Given the description of an element on the screen output the (x, y) to click on. 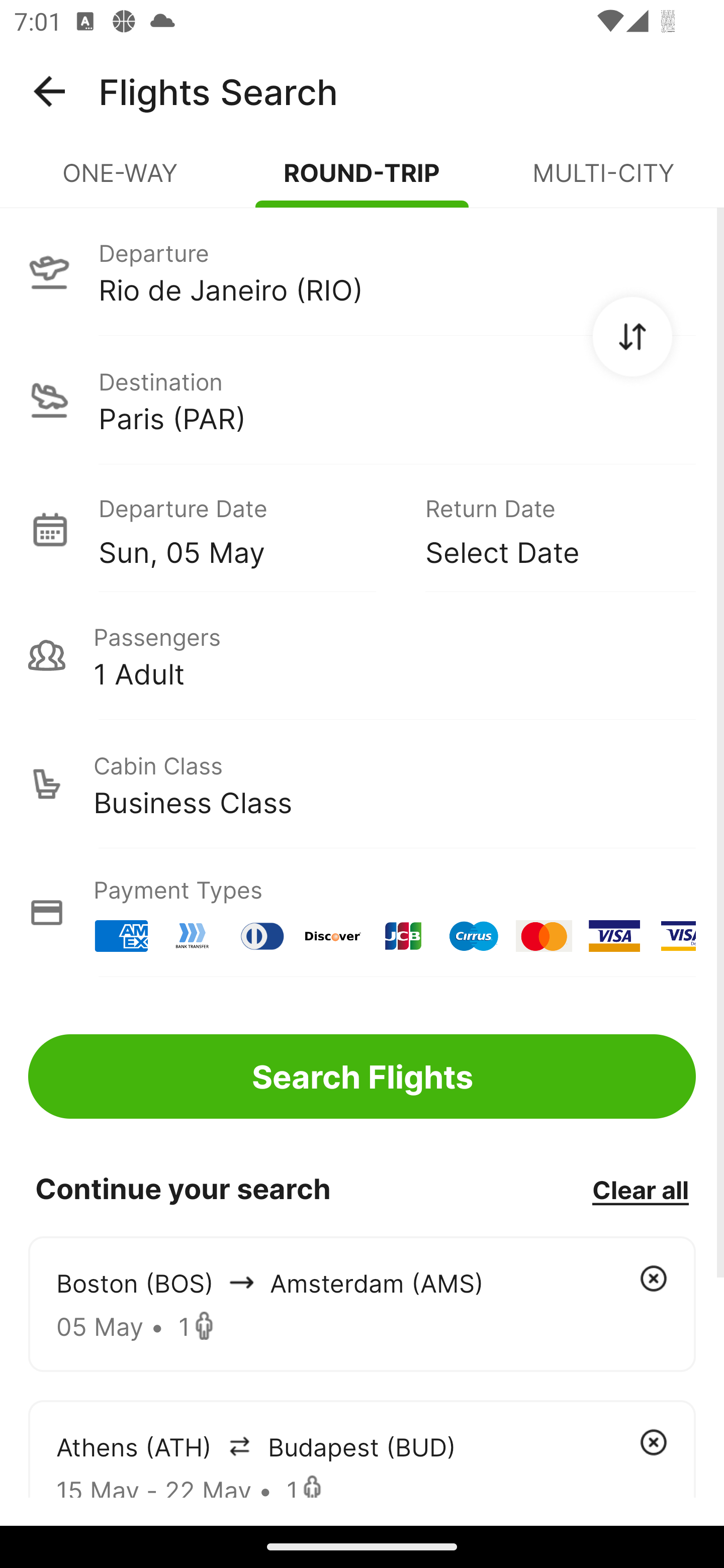
ONE-WAY (120, 180)
ROUND-TRIP (361, 180)
MULTI-CITY (603, 180)
Departure Rio de Janeiro (RIO) (362, 270)
Destination Paris (PAR) (362, 400)
Departure Date Sun, 05 May (247, 528)
Return Date Select Date (546, 528)
Passengers 1 Adult (362, 655)
Cabin Class Business Class (362, 783)
Payment Types (362, 912)
Search Flights (361, 1075)
Clear all (640, 1189)
